Given the description of an element on the screen output the (x, y) to click on. 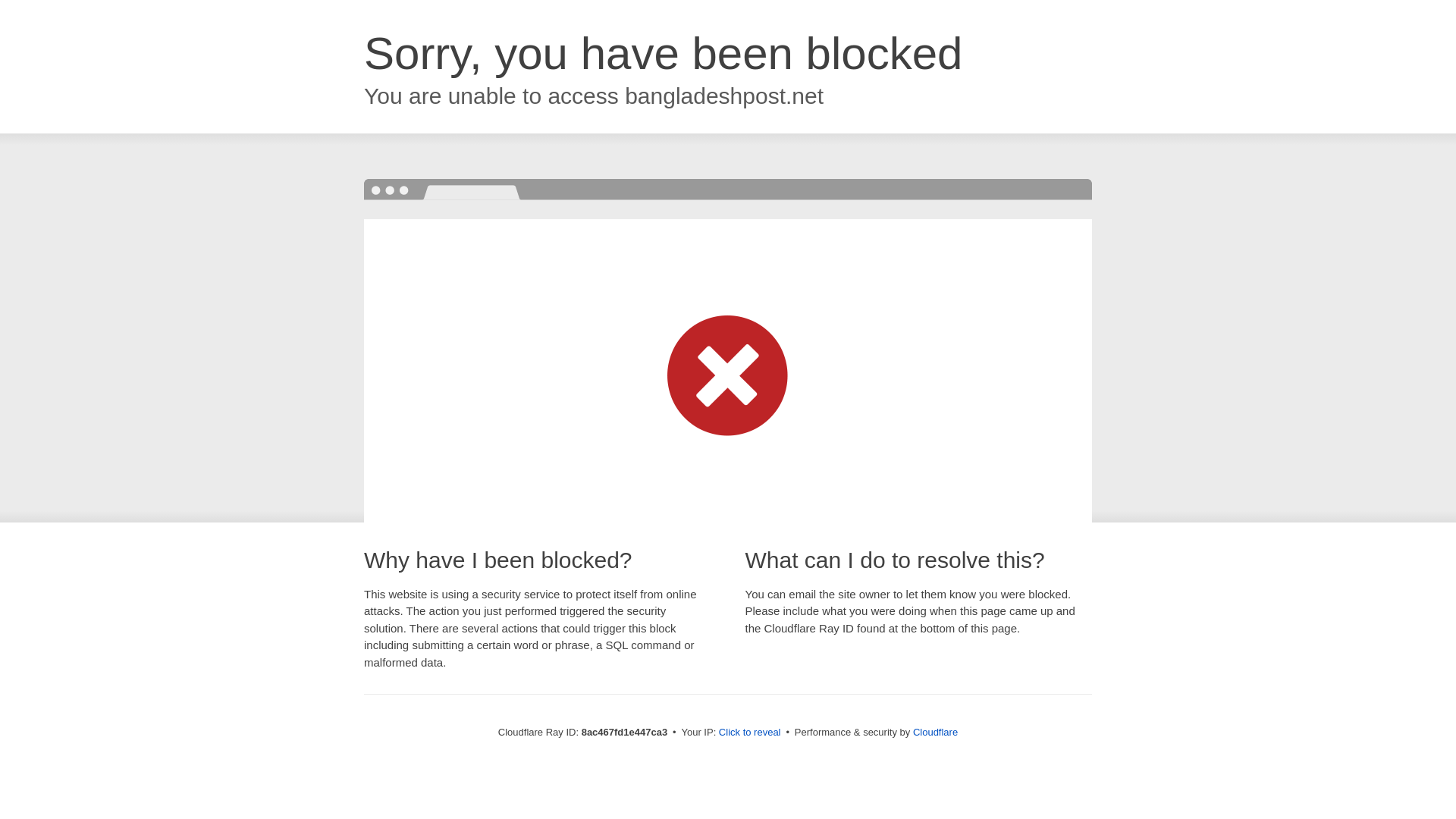
Cloudflare (935, 731)
Click to reveal (749, 732)
